Given the description of an element on the screen output the (x, y) to click on. 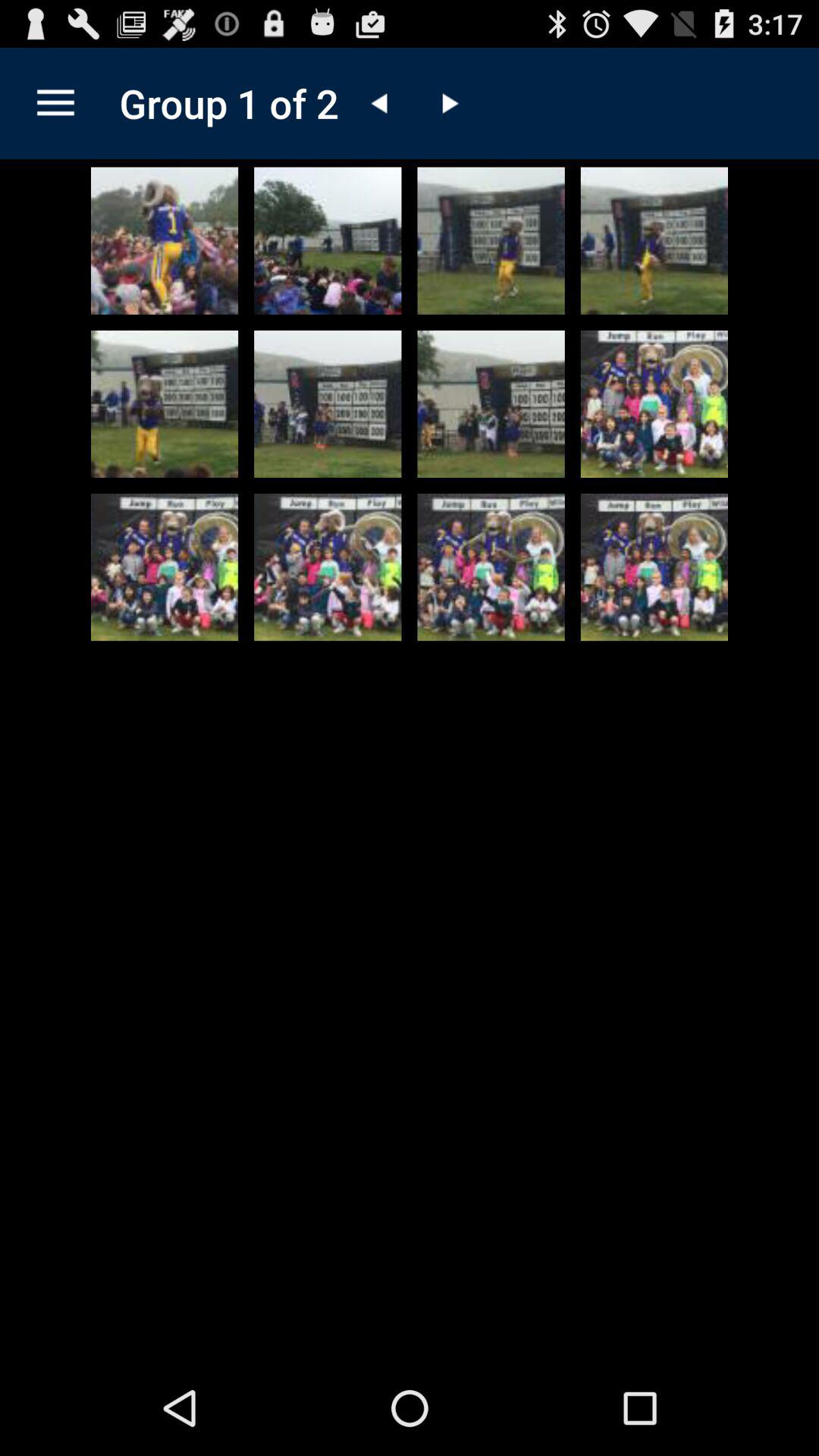
look at the image (327, 566)
